Given the description of an element on the screen output the (x, y) to click on. 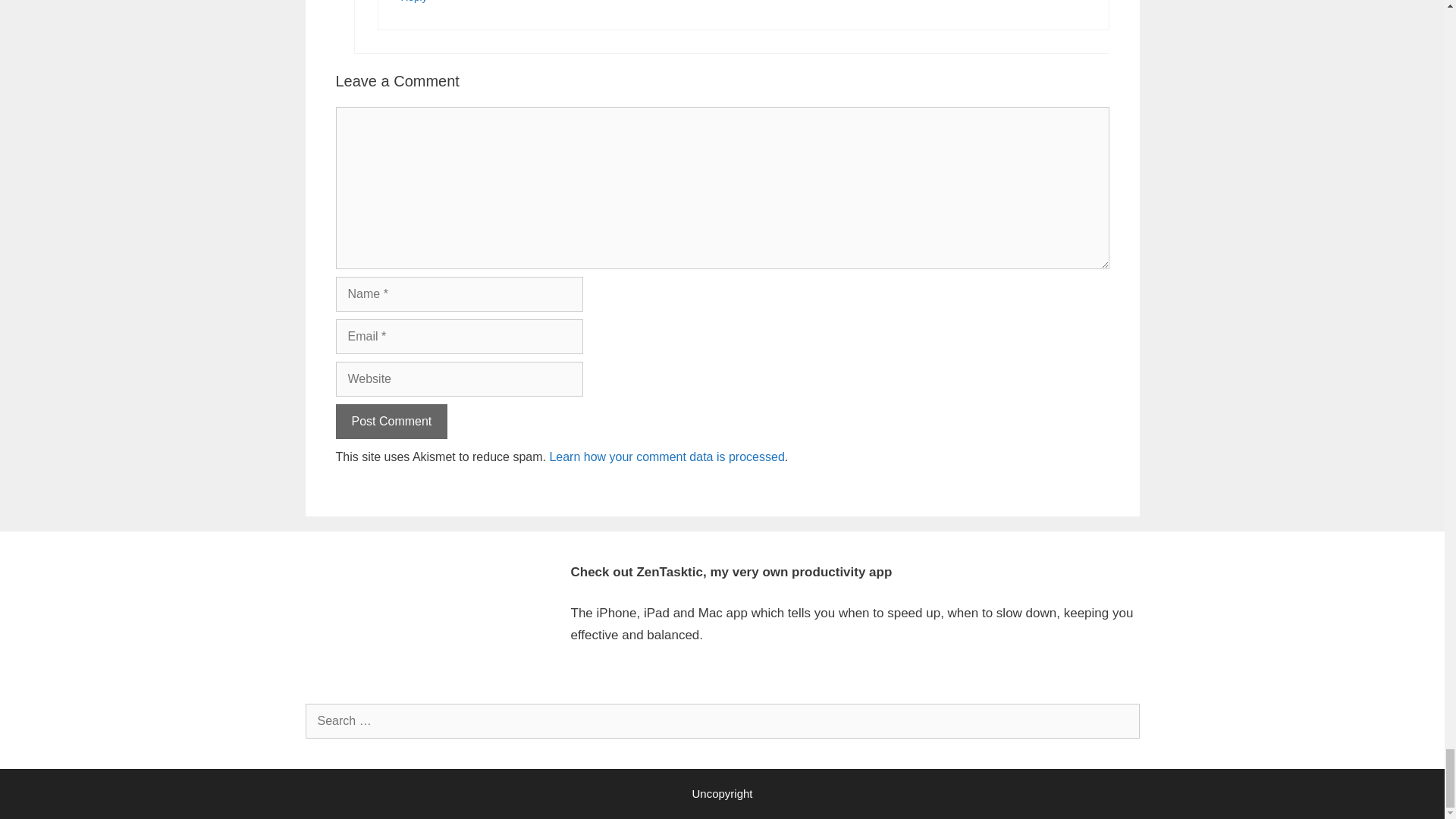
Search for: (721, 720)
Post Comment (390, 421)
